Given the description of an element on the screen output the (x, y) to click on. 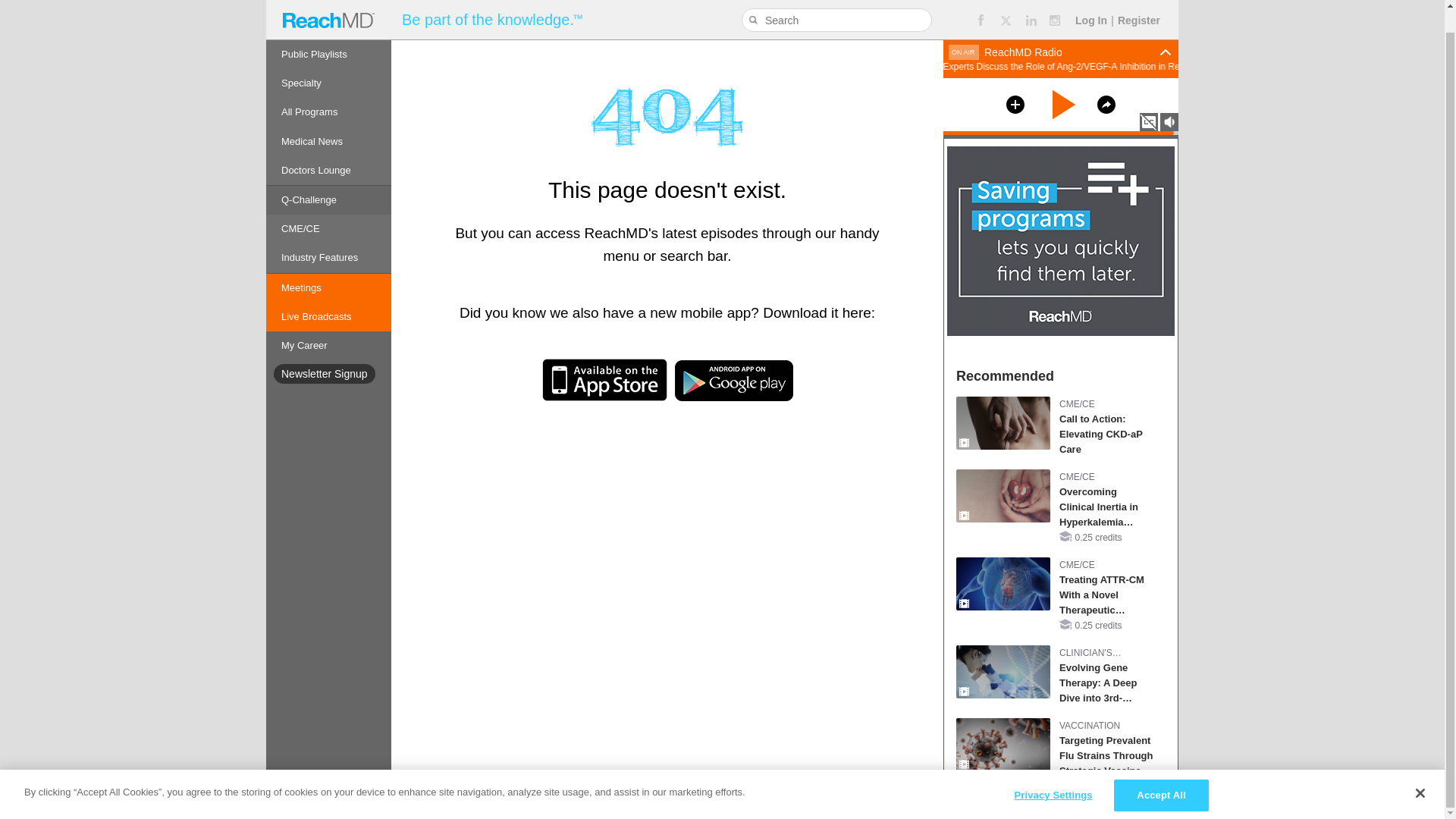
Linked in (1030, 4)
All Programs (328, 89)
Facebook (980, 4)
Log In (1090, 2)
Register (1139, 2)
Instagram (1055, 4)
Twitter (1004, 4)
Specialty (328, 60)
Search (754, 2)
Public Playlists (328, 31)
ReachMD (328, 8)
